Given the description of an element on the screen output the (x, y) to click on. 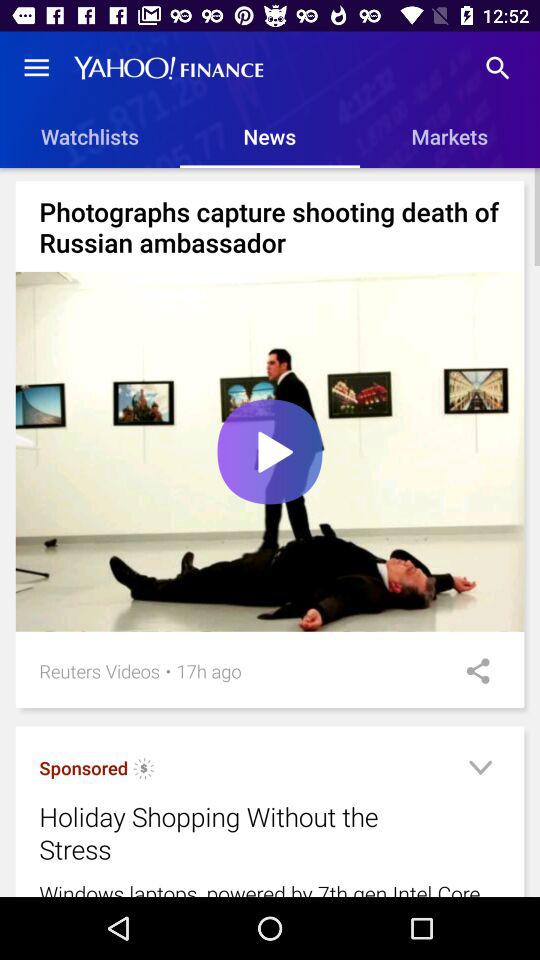
turn off the icon to the right of the 17h ago item (471, 671)
